Given the description of an element on the screen output the (x, y) to click on. 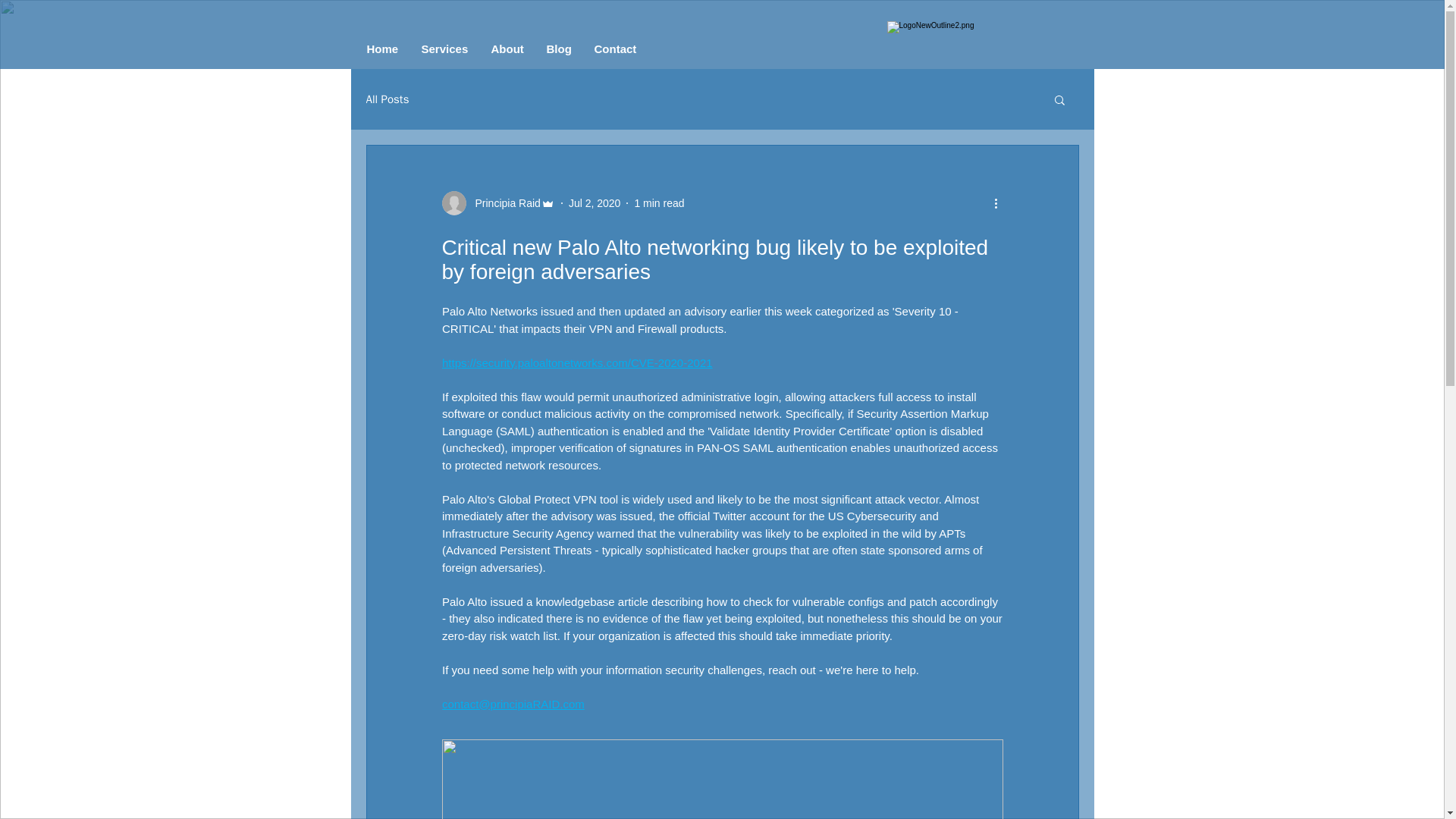
About (506, 48)
Blog (559, 48)
Jul 2, 2020 (595, 203)
1 min read (658, 203)
Contact (614, 48)
All Posts (387, 99)
Services (444, 48)
Home (382, 48)
Principia Raid (502, 203)
